Given the description of an element on the screen output the (x, y) to click on. 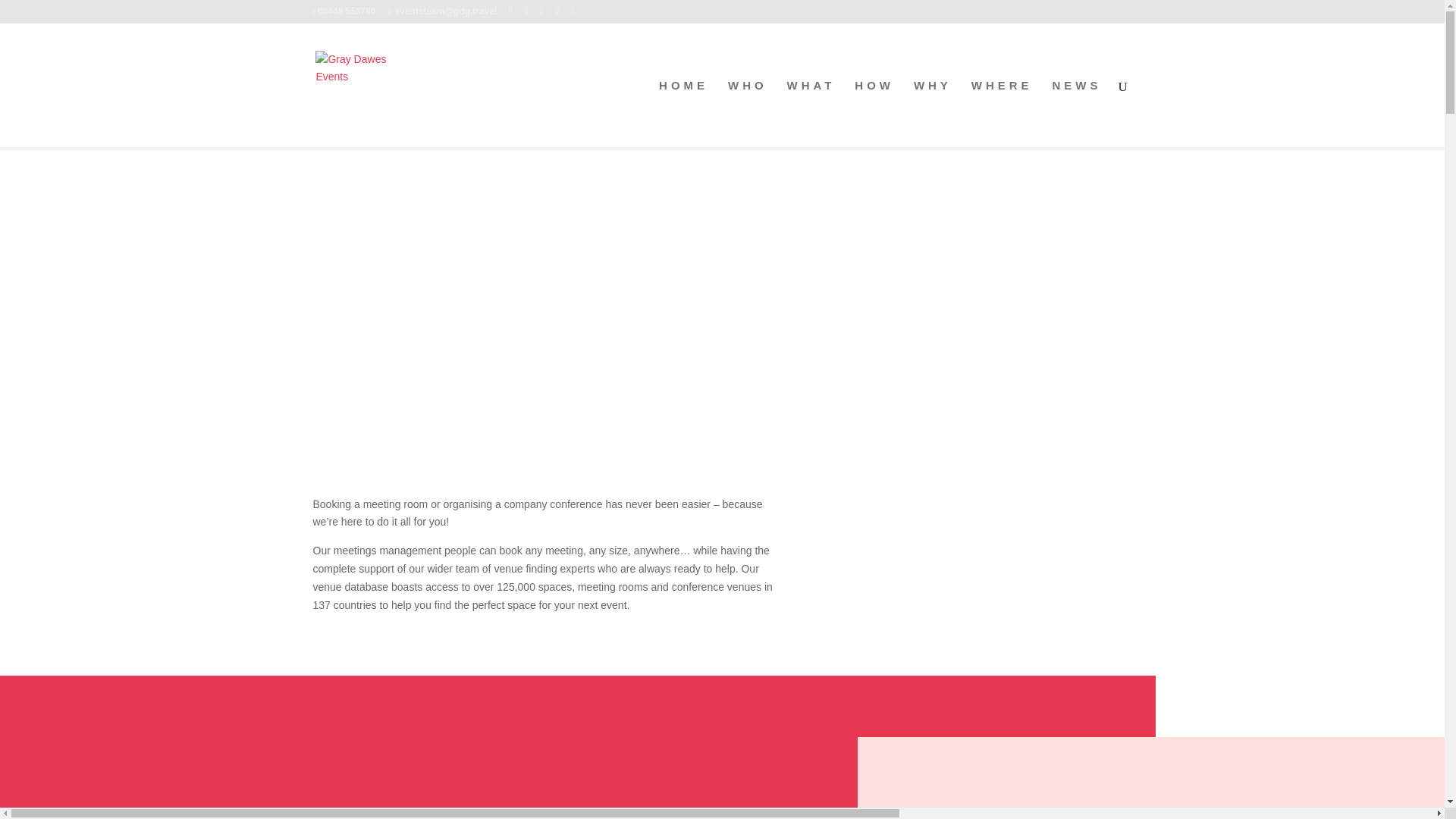
WHERE (1001, 114)
